Given the description of an element on the screen output the (x, y) to click on. 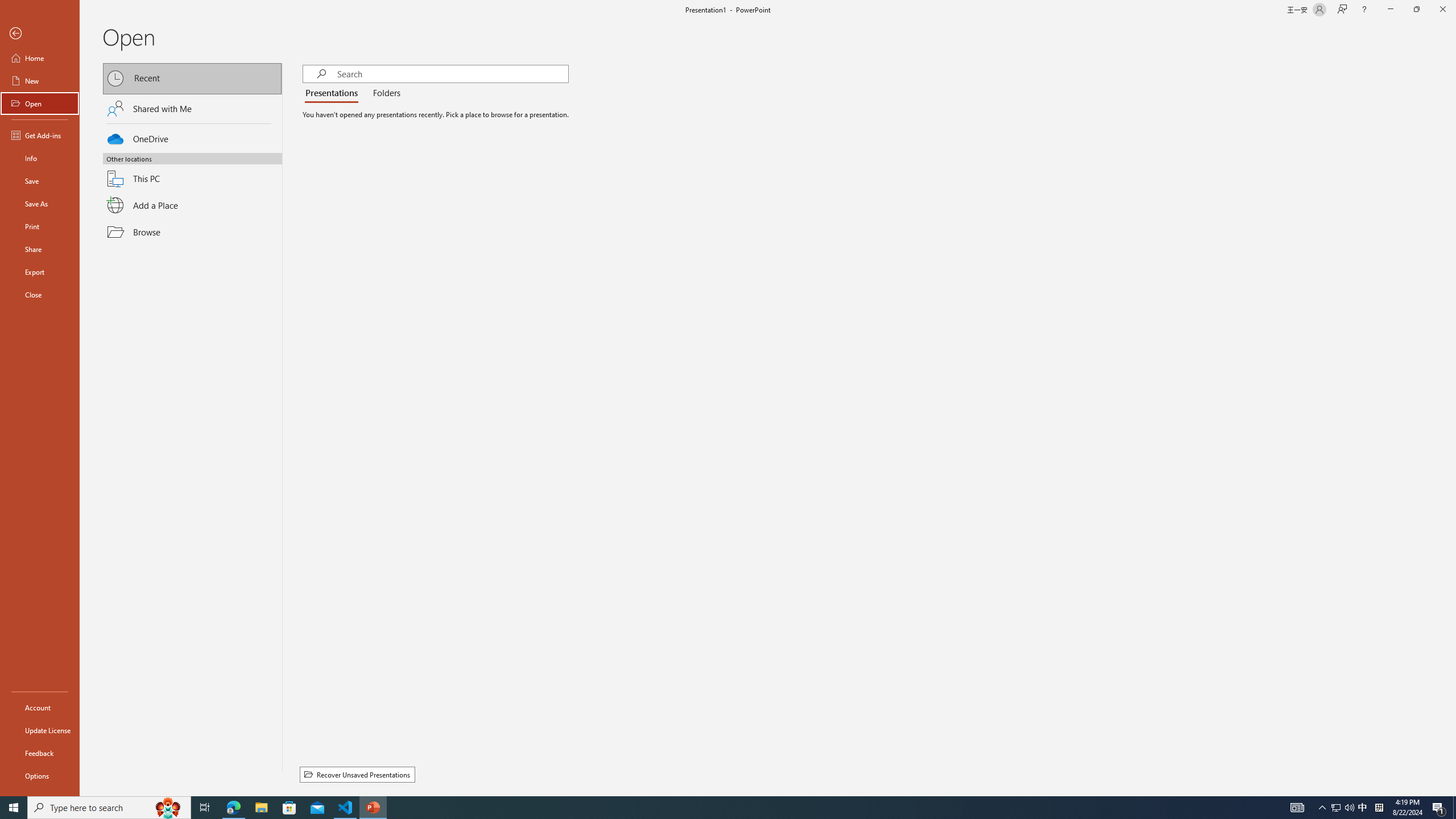
Get Add-ins (40, 134)
OneDrive (192, 136)
